Given the description of an element on the screen output the (x, y) to click on. 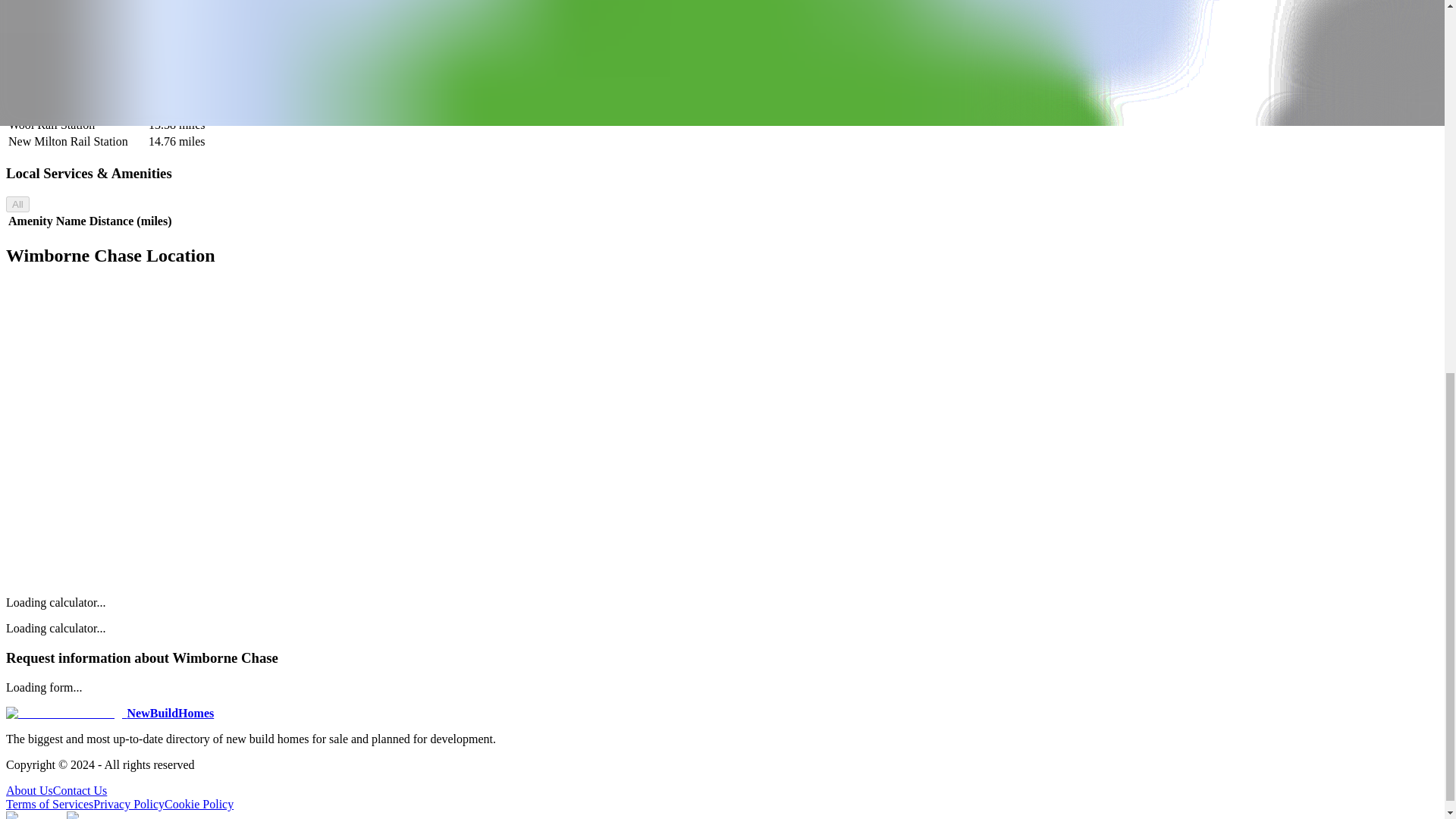
Cookie Policy (198, 803)
Terms of Services (49, 803)
NewBuildHomes (109, 712)
Contact Us (79, 789)
About Us (28, 789)
Privacy Policy (128, 803)
All (17, 204)
